Given the description of an element on the screen output the (x, y) to click on. 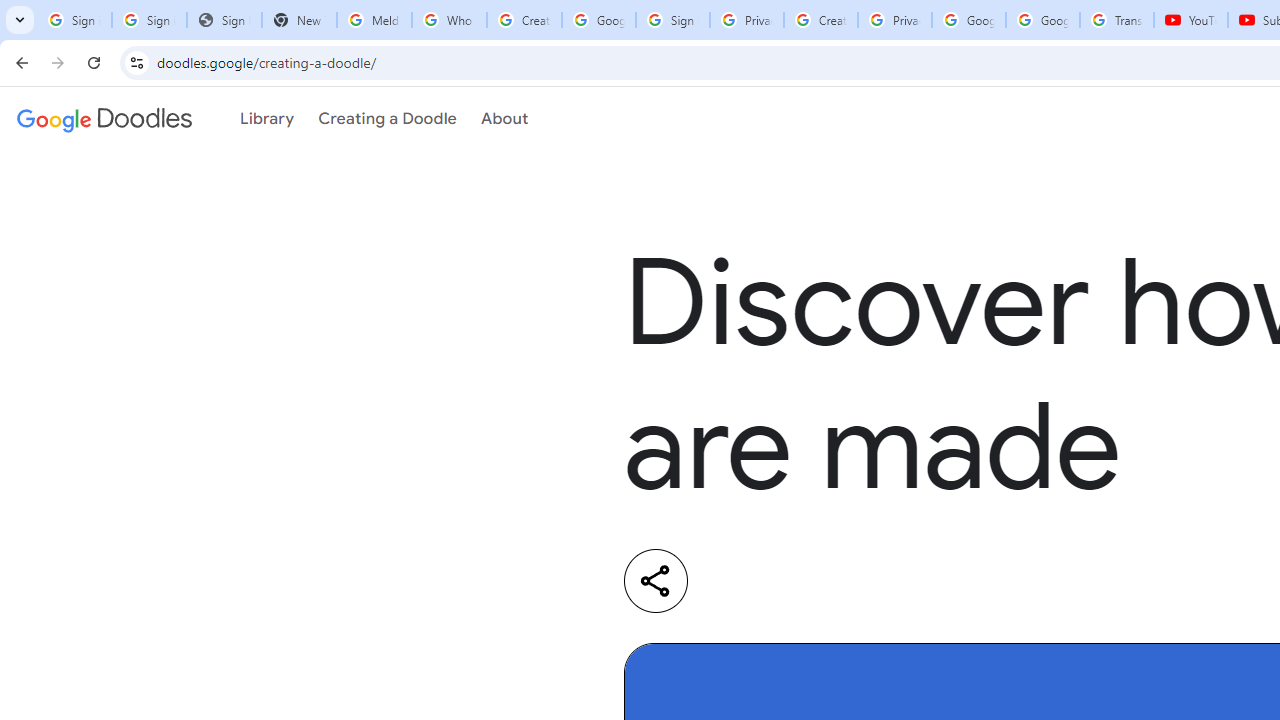
Google doodles (104, 119)
Who is my administrator? - Google Account Help (449, 20)
Sign In - USA TODAY (224, 20)
Create your Google Account (820, 20)
Sign in - Google Accounts (148, 20)
Share on twitter (818, 581)
Sign in - Google Accounts (673, 20)
New Tab (299, 20)
YouTube (1190, 20)
Sign in - Google Accounts (74, 20)
